Given the description of an element on the screen output the (x, y) to click on. 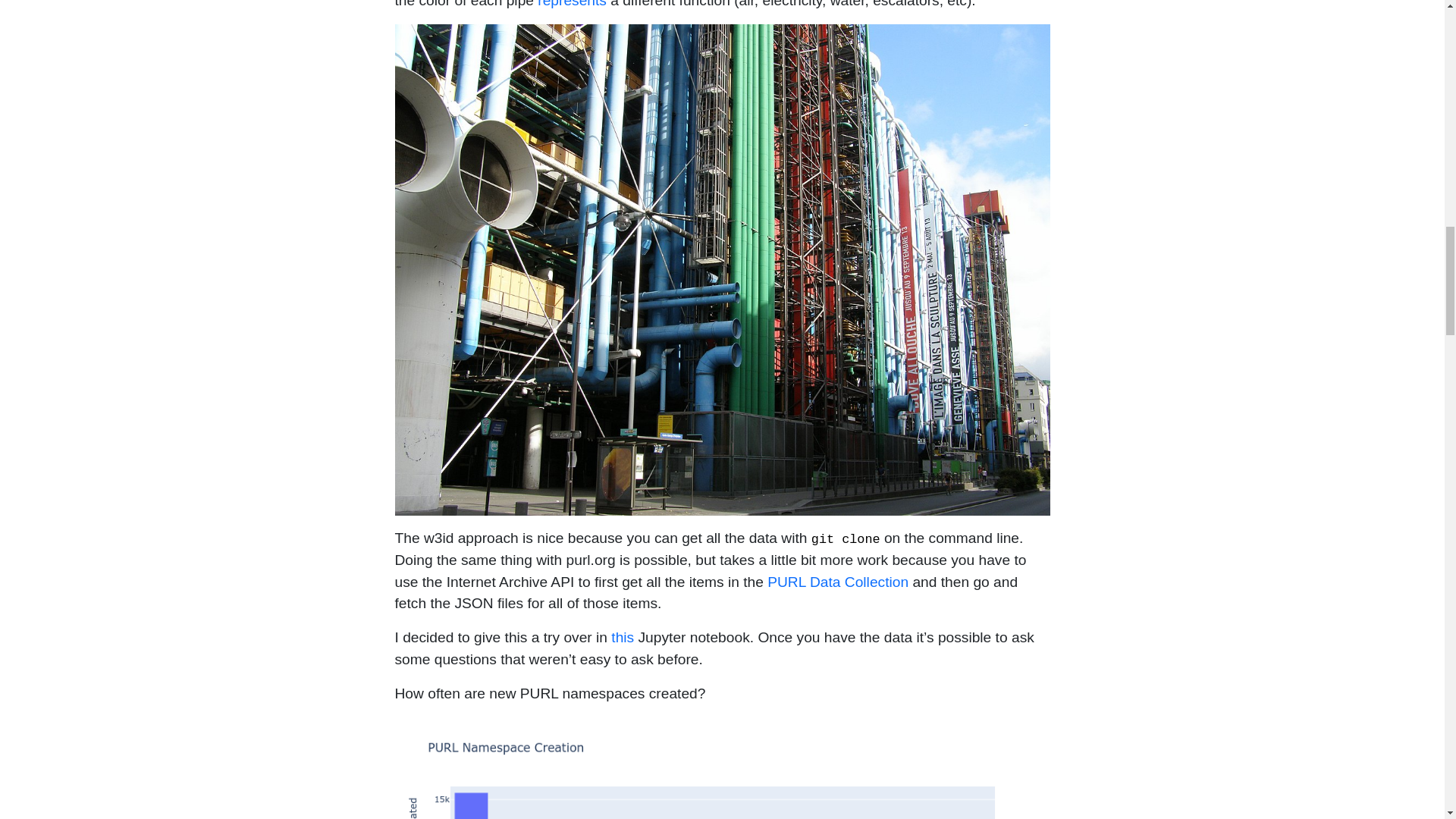
PURL Data Collection (837, 581)
represents (572, 4)
this (622, 637)
